Given the description of an element on the screen output the (x, y) to click on. 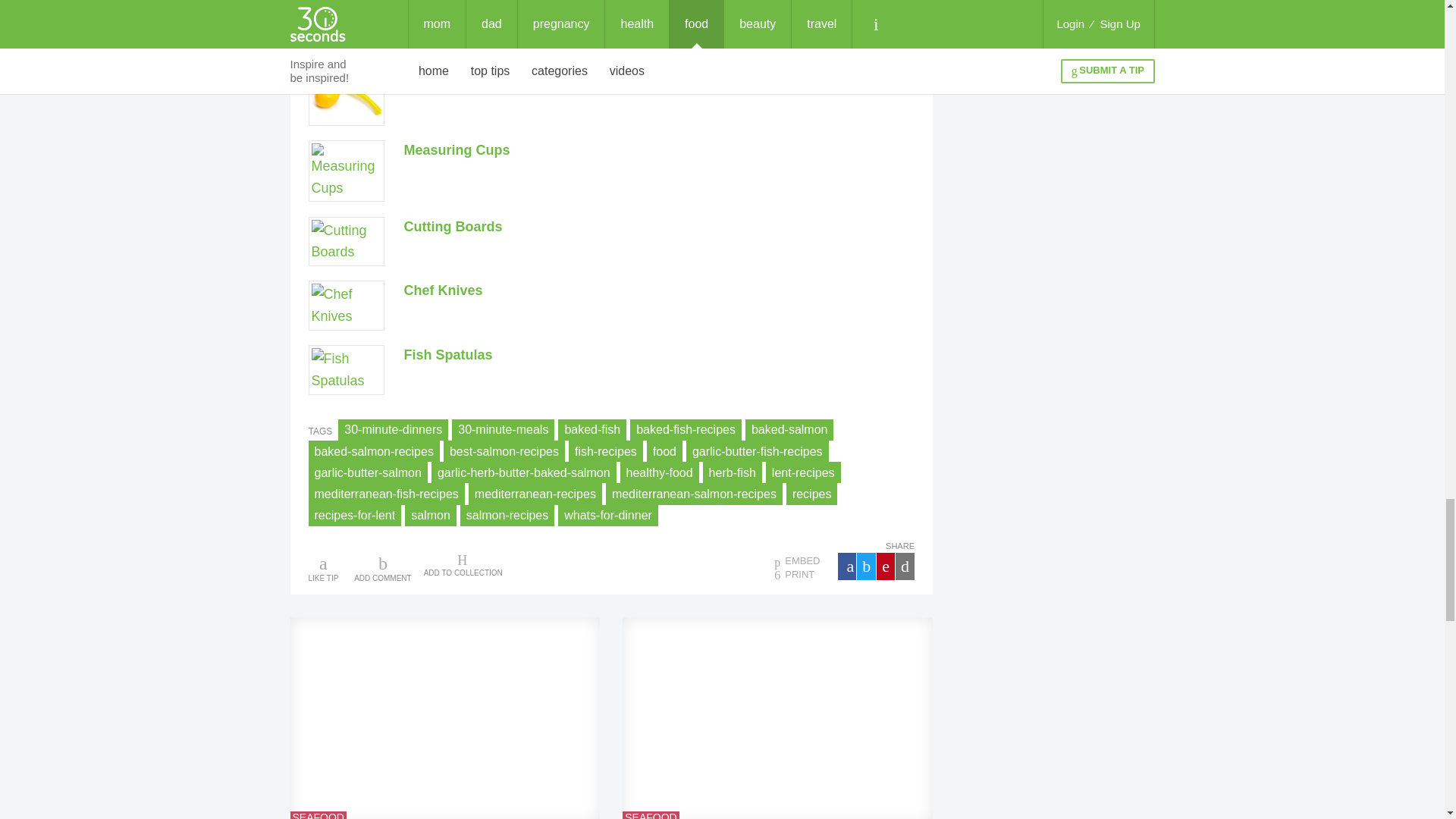
ADD COMMENT (382, 567)
